Given the description of an element on the screen output the (x, y) to click on. 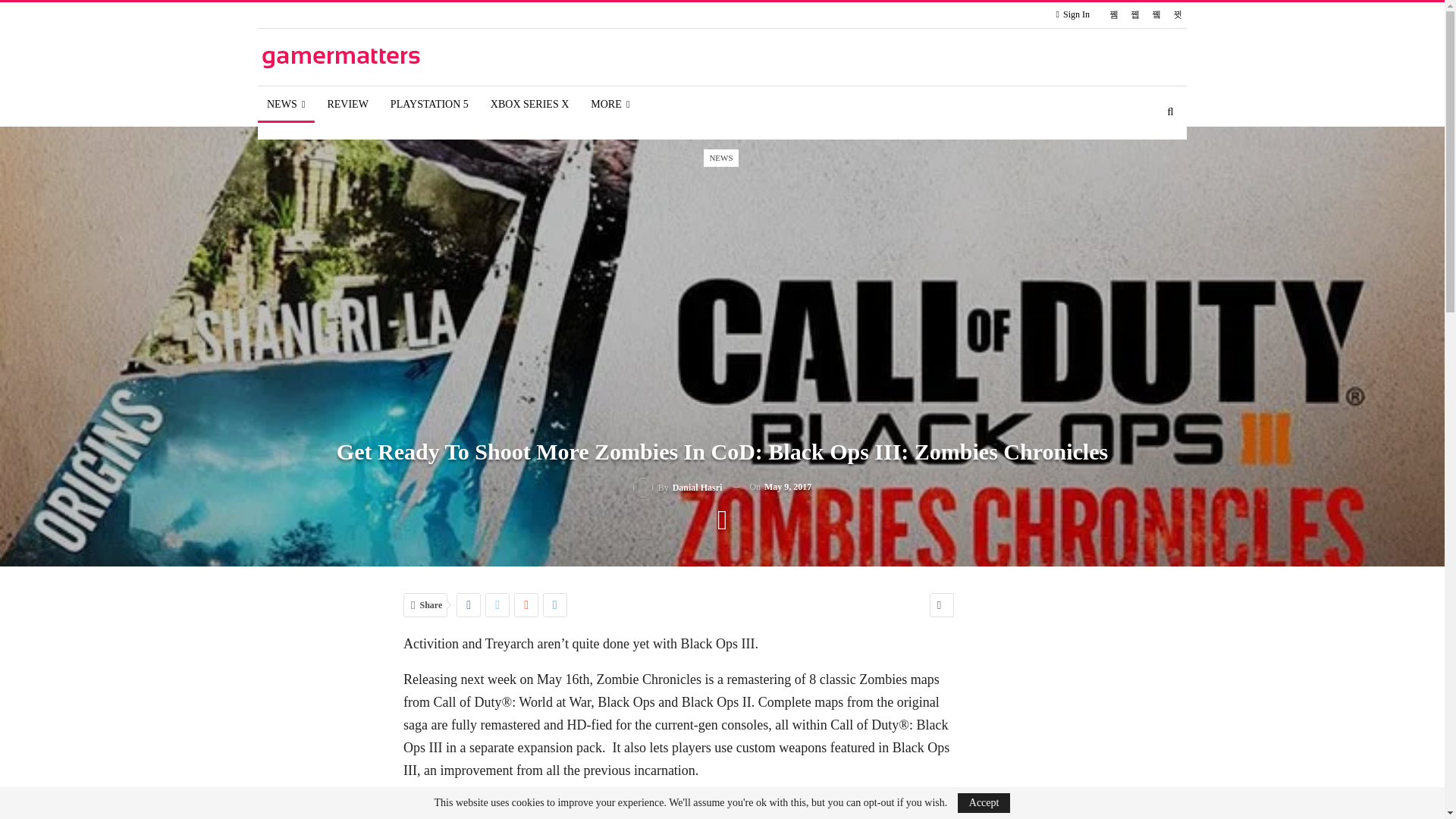
MORE (609, 104)
NEWS (720, 158)
NEWS (285, 104)
Sign In (1076, 13)
By Danial Hasri (677, 486)
XBOX SERIES X (529, 104)
REVIEW (347, 104)
PLAYSTATION 5 (429, 104)
Advertisement (1109, 743)
Browse Author Articles (677, 486)
